Given the description of an element on the screen output the (x, y) to click on. 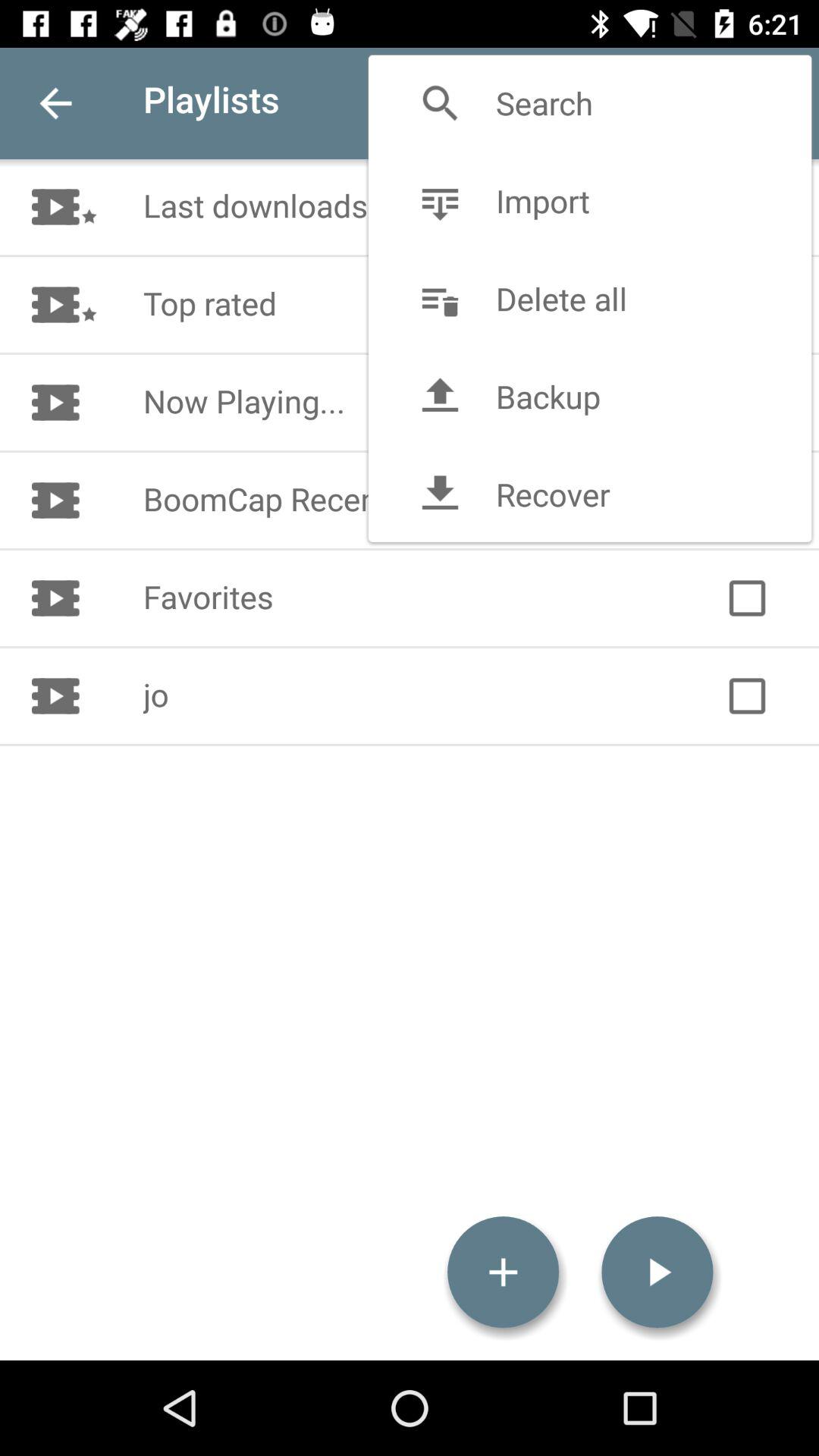
click on the backup icon (440, 396)
select the button which is left side of the arrow button at the bottom right side of the page (503, 1272)
select the icon on left to the text jo on the web page (64, 696)
select the icon on left to the button top rated on the web page (87, 305)
